Given the description of an element on the screen output the (x, y) to click on. 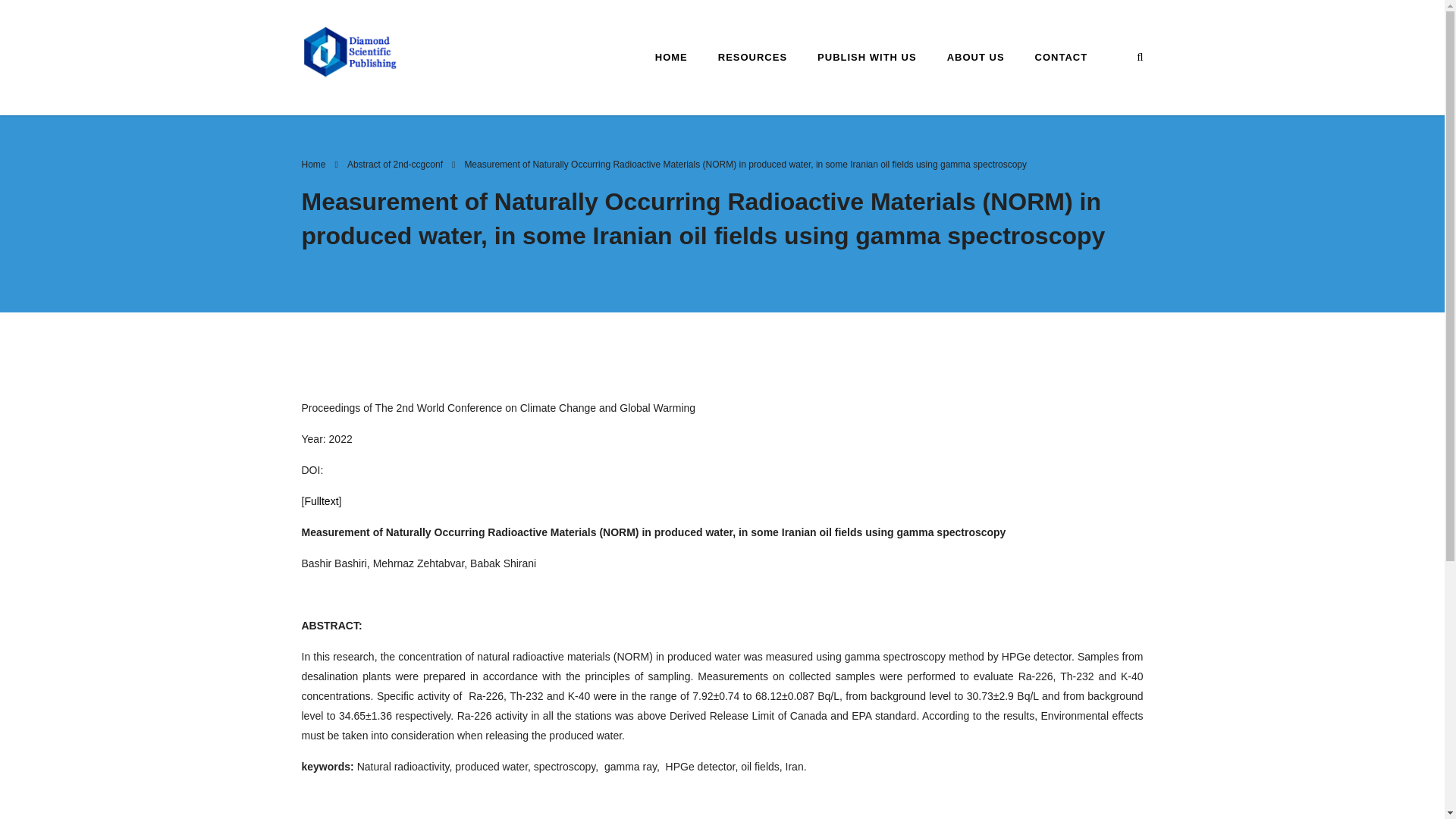
dpublication (349, 50)
Abstract of 2nd-ccgconf (394, 163)
Go to the Abstract of 2nd-ccgconf category archives. (394, 163)
CONTACT (1061, 56)
Home (313, 163)
RESOURCES (752, 56)
HOME (671, 56)
PUBLISH WITH US (866, 56)
ABOUT US (975, 56)
Fulltext (320, 500)
